Given the description of an element on the screen output the (x, y) to click on. 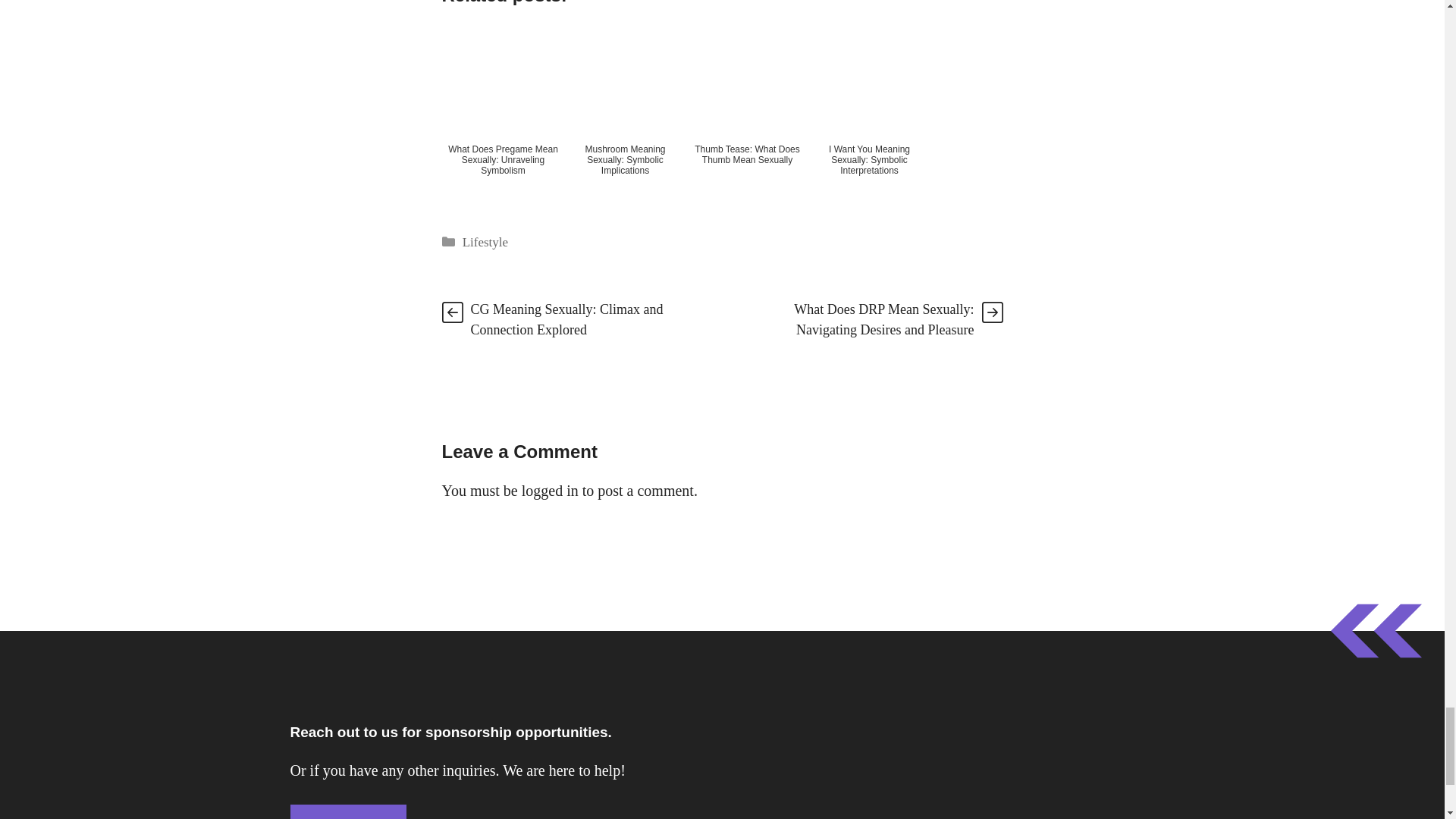
logged in (549, 490)
What Does DRP Mean Sexually: Navigating Desires and Pleasure (883, 319)
CG Meaning Sexually: Climax and Connection Explored (566, 319)
Lifestyle (485, 242)
